Given the description of an element on the screen output the (x, y) to click on. 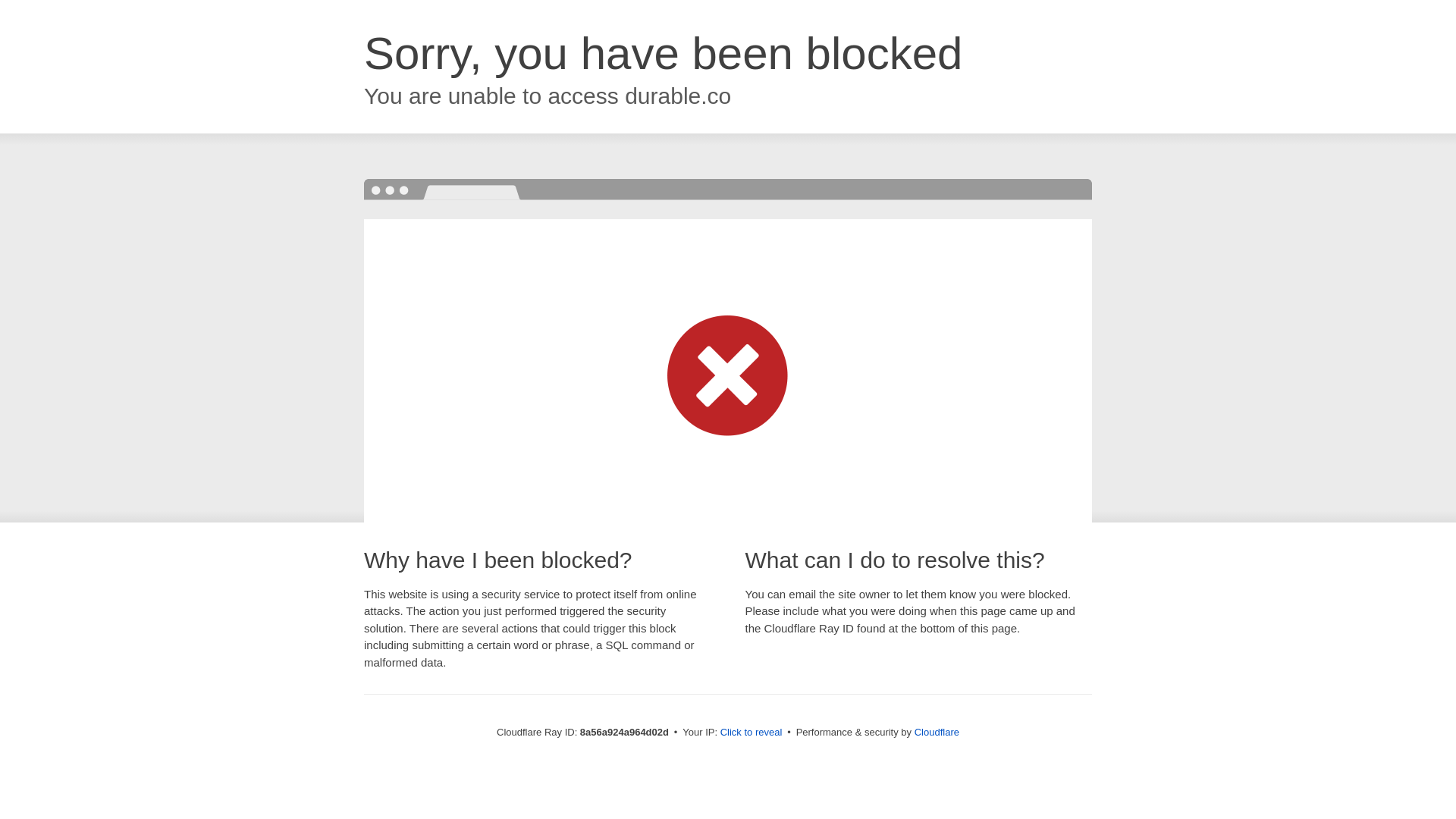
Cloudflare (936, 731)
Click to reveal (751, 732)
